Given the description of an element on the screen output the (x, y) to click on. 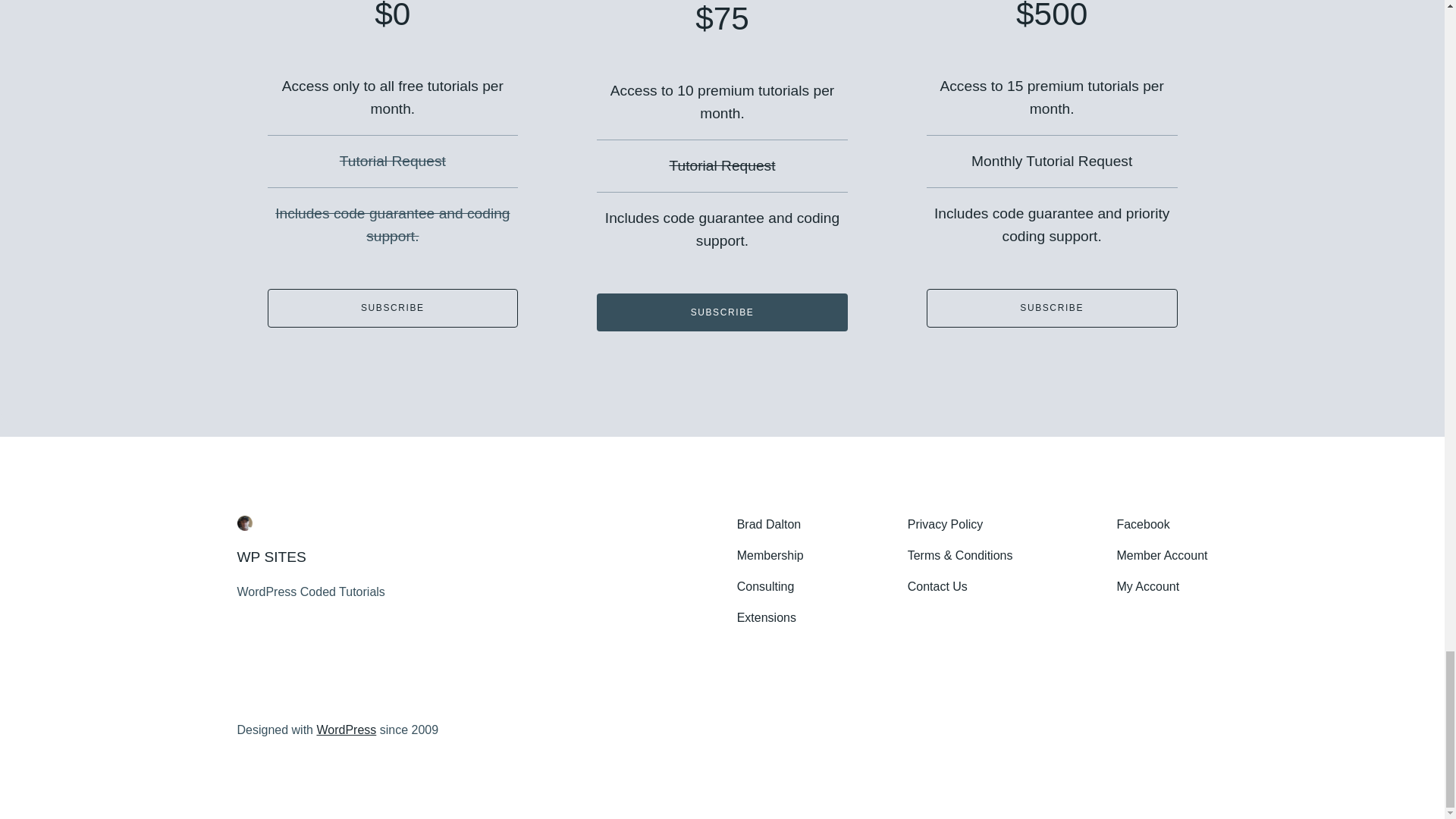
SUBSCRIBE (721, 312)
WP SITES (270, 556)
SUBSCRIBE (1051, 308)
SUBSCRIBE (392, 308)
